Given the description of an element on the screen output the (x, y) to click on. 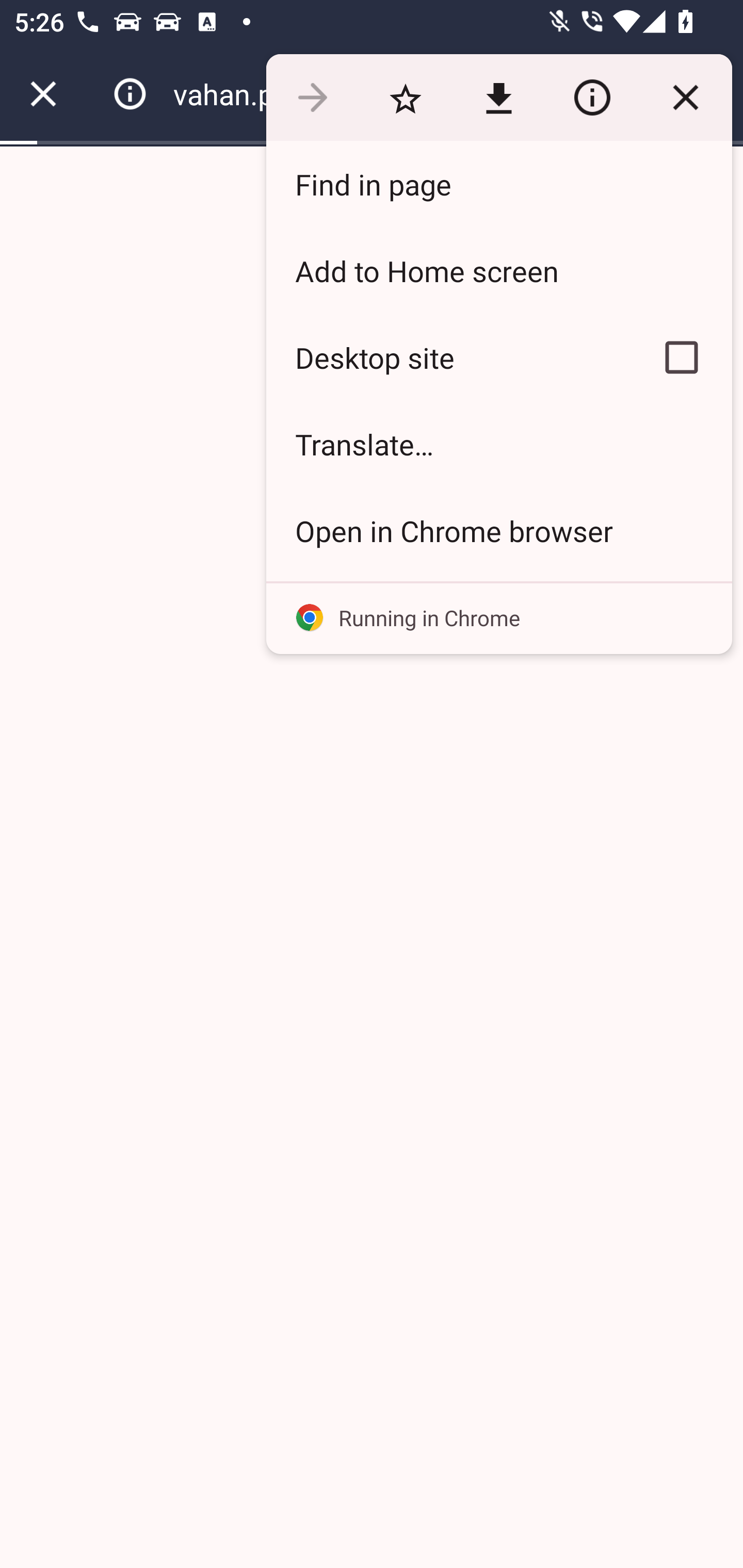
Go forward (311, 97)
Bookmark (404, 97)
Download this page (498, 97)
View site information (591, 97)
Stop refreshing (684, 97)
Find in page (498, 184)
Add to Home screen (498, 270)
Desktop site Turn on Request desktop site (447, 357)
Translate… (498, 444)
Open in Chrome browser (498, 530)
